Given the description of an element on the screen output the (x, y) to click on. 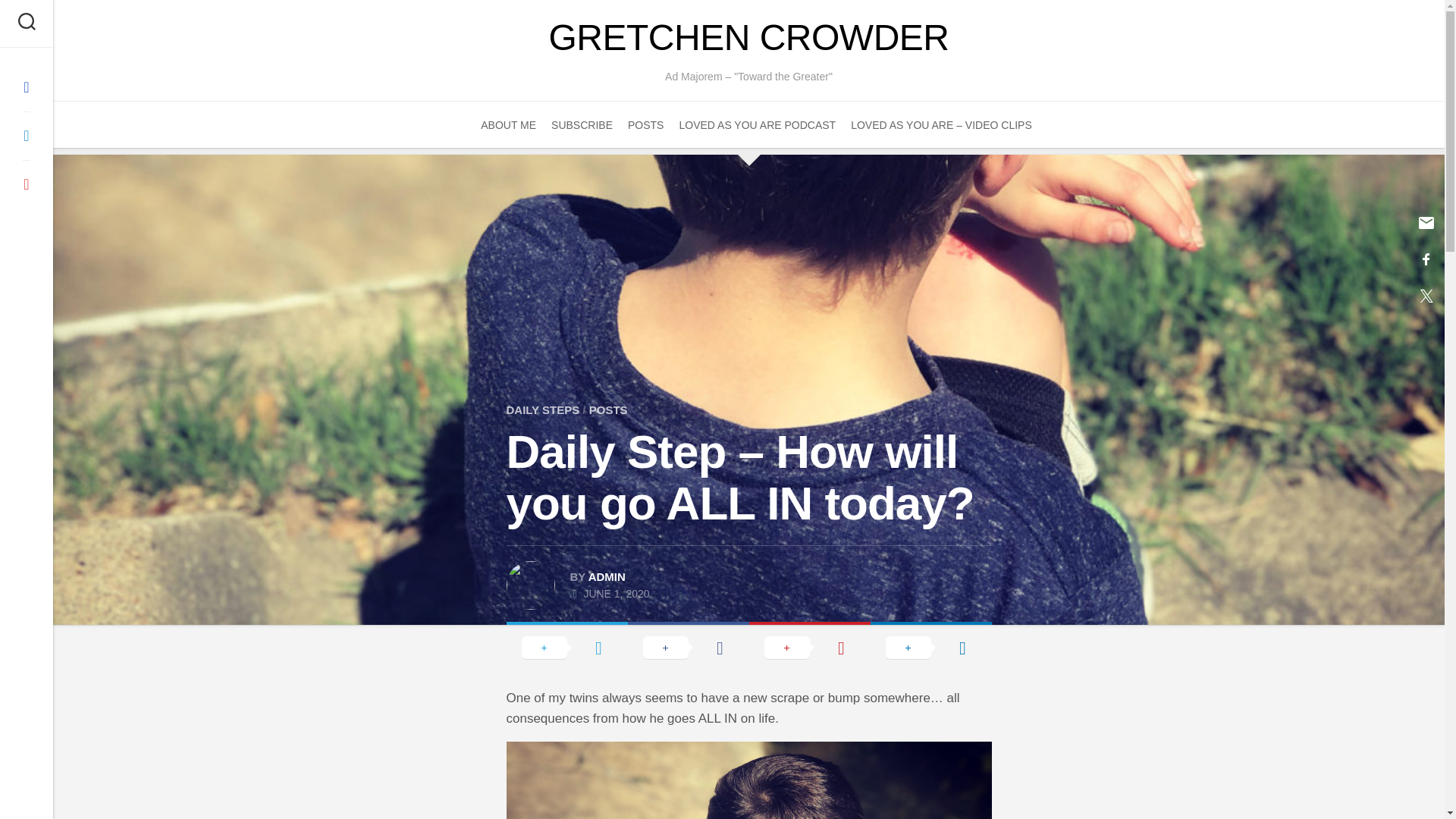
ABOUT ME (507, 124)
SUBSCRIBE (581, 124)
POSTS (645, 124)
Instagram (26, 183)
LOVED AS YOU ARE PODCAST (756, 124)
POSTS (608, 409)
DAILY STEPS (542, 409)
Twitter (26, 135)
Share on Pinterest (809, 646)
Facebook (26, 87)
Posts by admin (607, 576)
Share on X (566, 646)
Share on Facebook (688, 646)
Share on LinkedIn (930, 646)
ADMIN (607, 576)
